Given the description of an element on the screen output the (x, y) to click on. 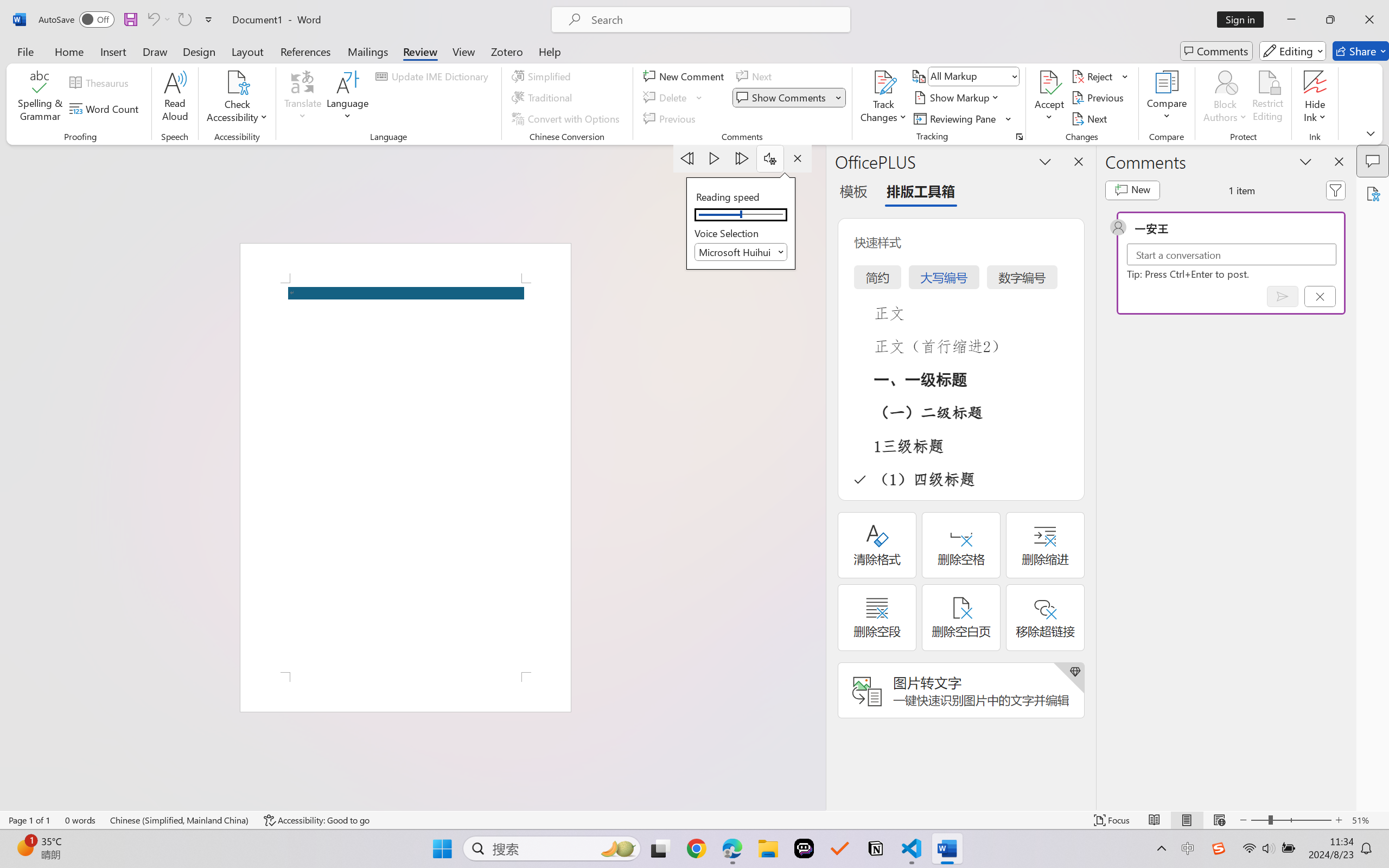
Settings (770, 158)
Previous Paragraph (687, 158)
Next Paragraph (743, 158)
Track Changes (883, 97)
Next (1090, 118)
Show Markup (957, 97)
